Given the description of an element on the screen output the (x, y) to click on. 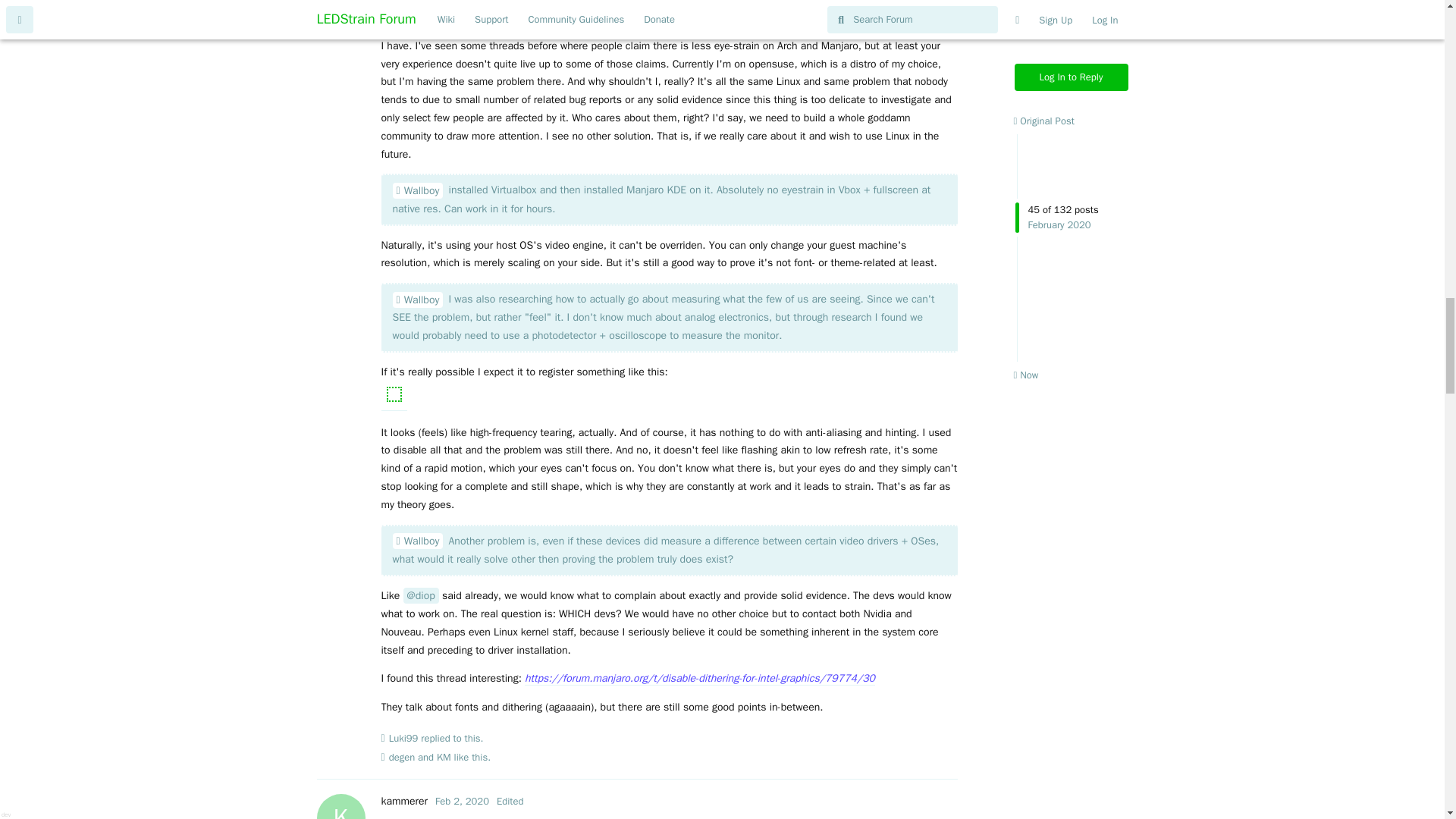
Sunday, February 2, 2020 5:22 PM (462, 800)
